Given the description of an element on the screen output the (x, y) to click on. 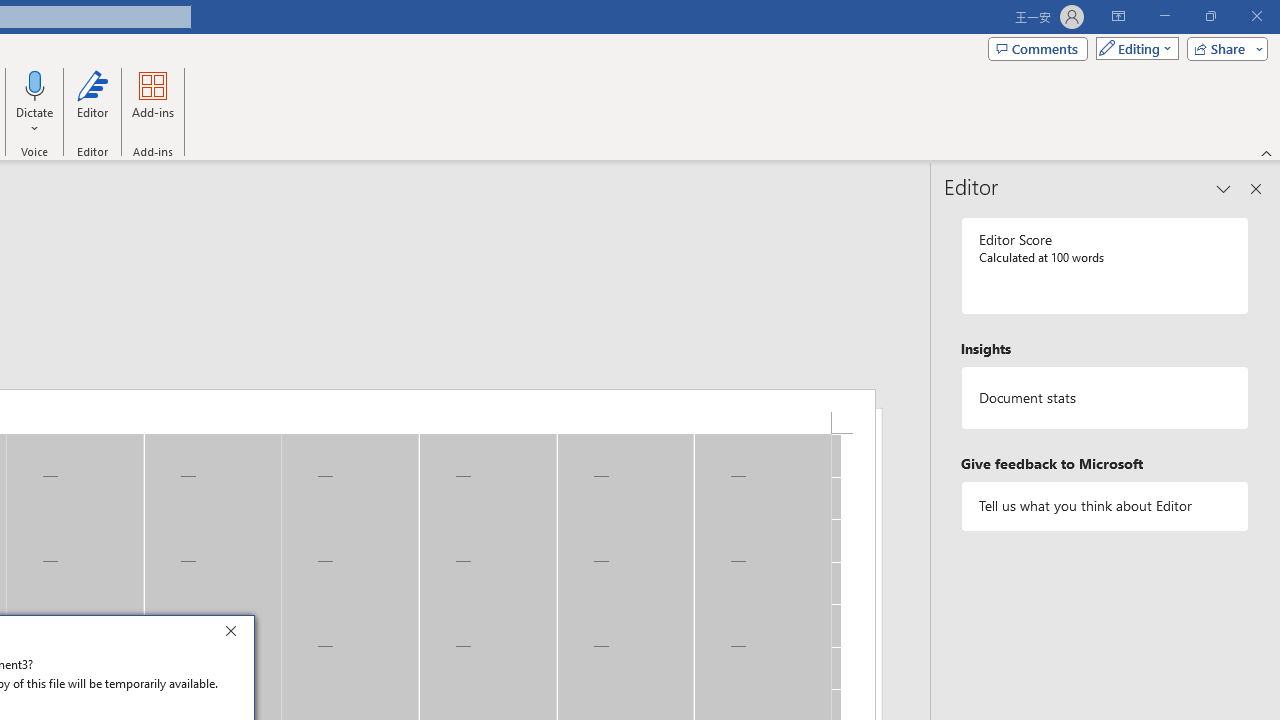
Tell us what you think about Editor (1105, 506)
